Given the description of an element on the screen output the (x, y) to click on. 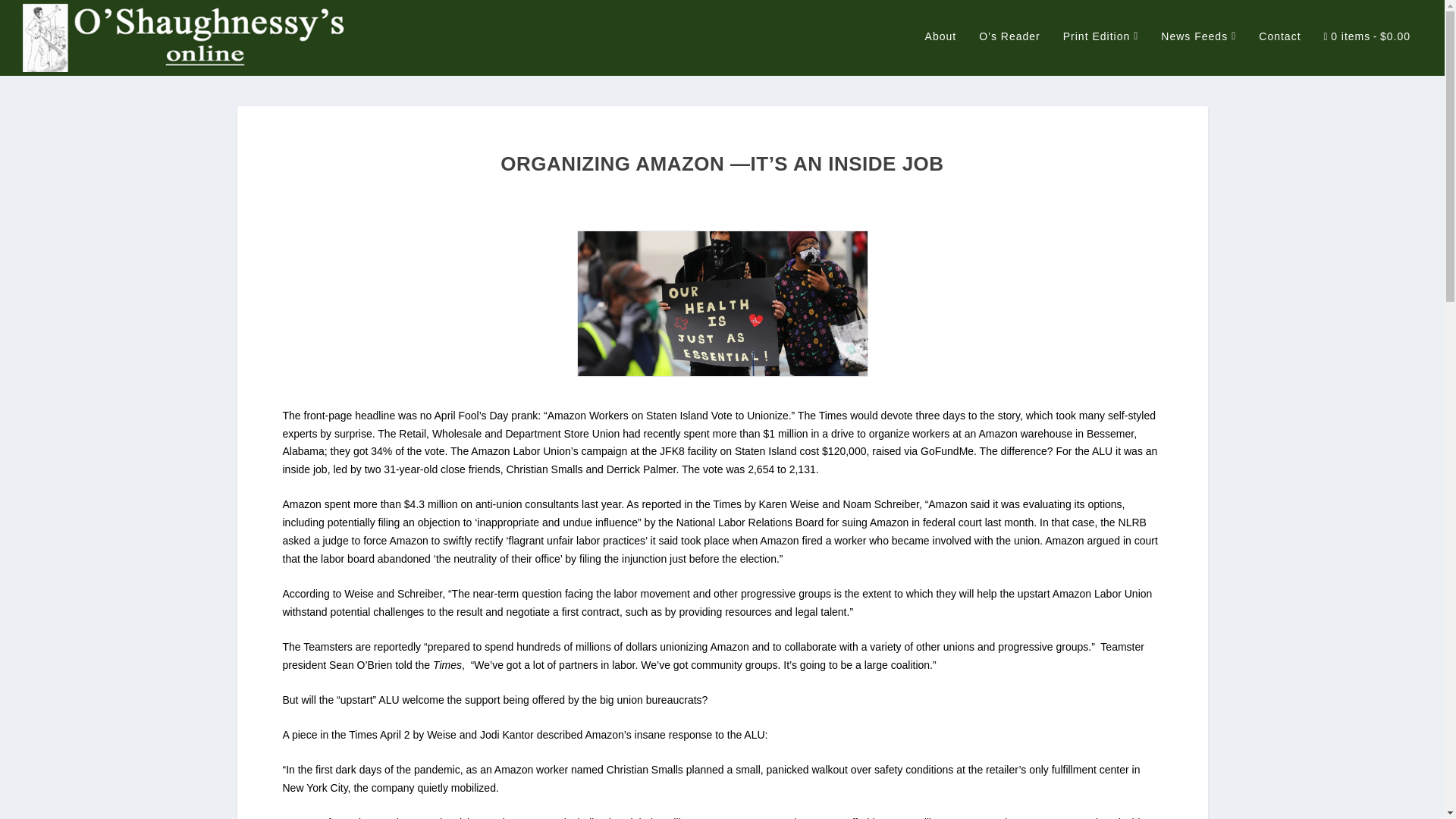
Contact (1279, 52)
Print Edition (1100, 52)
Start shopping (1366, 53)
News Feeds (1198, 52)
